Given the description of an element on the screen output the (x, y) to click on. 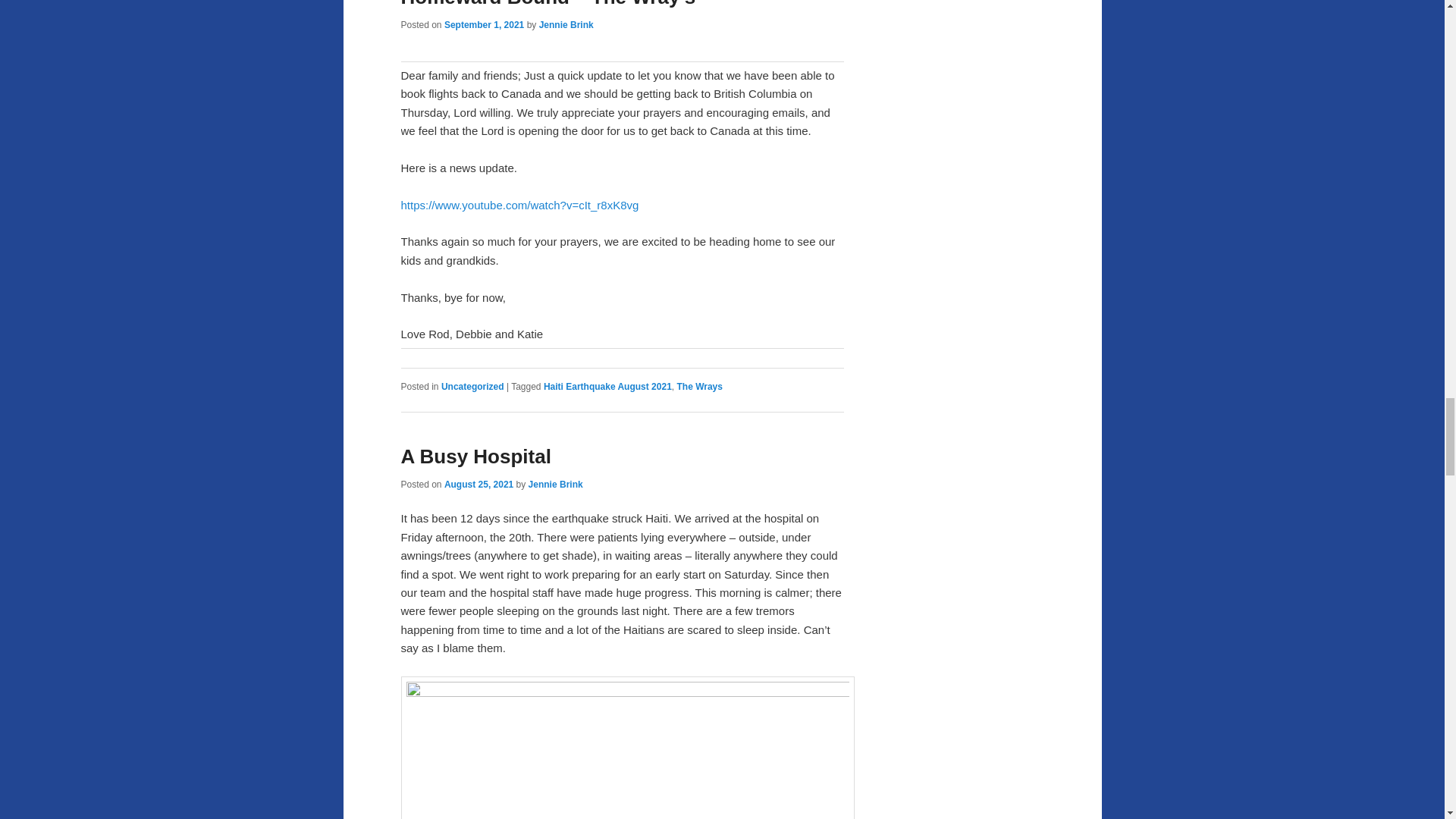
Uncategorized (472, 386)
9:12 am (484, 24)
Jennie Brink (566, 24)
September 1, 2021 (484, 24)
1:41 pm (478, 484)
View all posts by Jennie Brink (566, 24)
View all posts by Jennie Brink (555, 484)
